Given the description of an element on the screen output the (x, y) to click on. 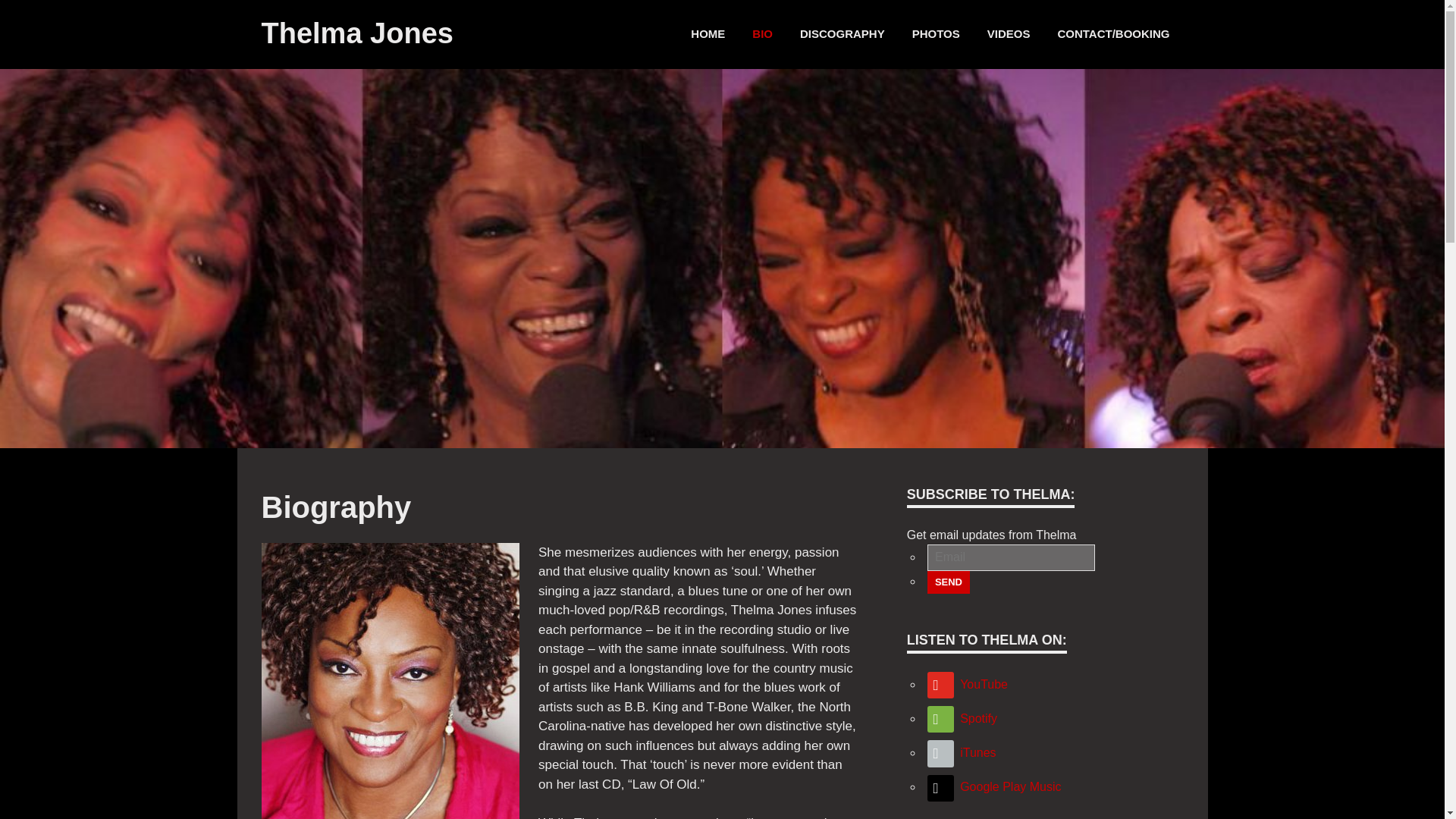
YouTube (966, 684)
BIO (762, 34)
DISCOGRAPHY (842, 34)
Thelma Jones (356, 33)
VIDEOS (1008, 34)
HOME (707, 34)
iTunes (960, 752)
SEND (947, 581)
Spotify (961, 717)
